Given the description of an element on the screen output the (x, y) to click on. 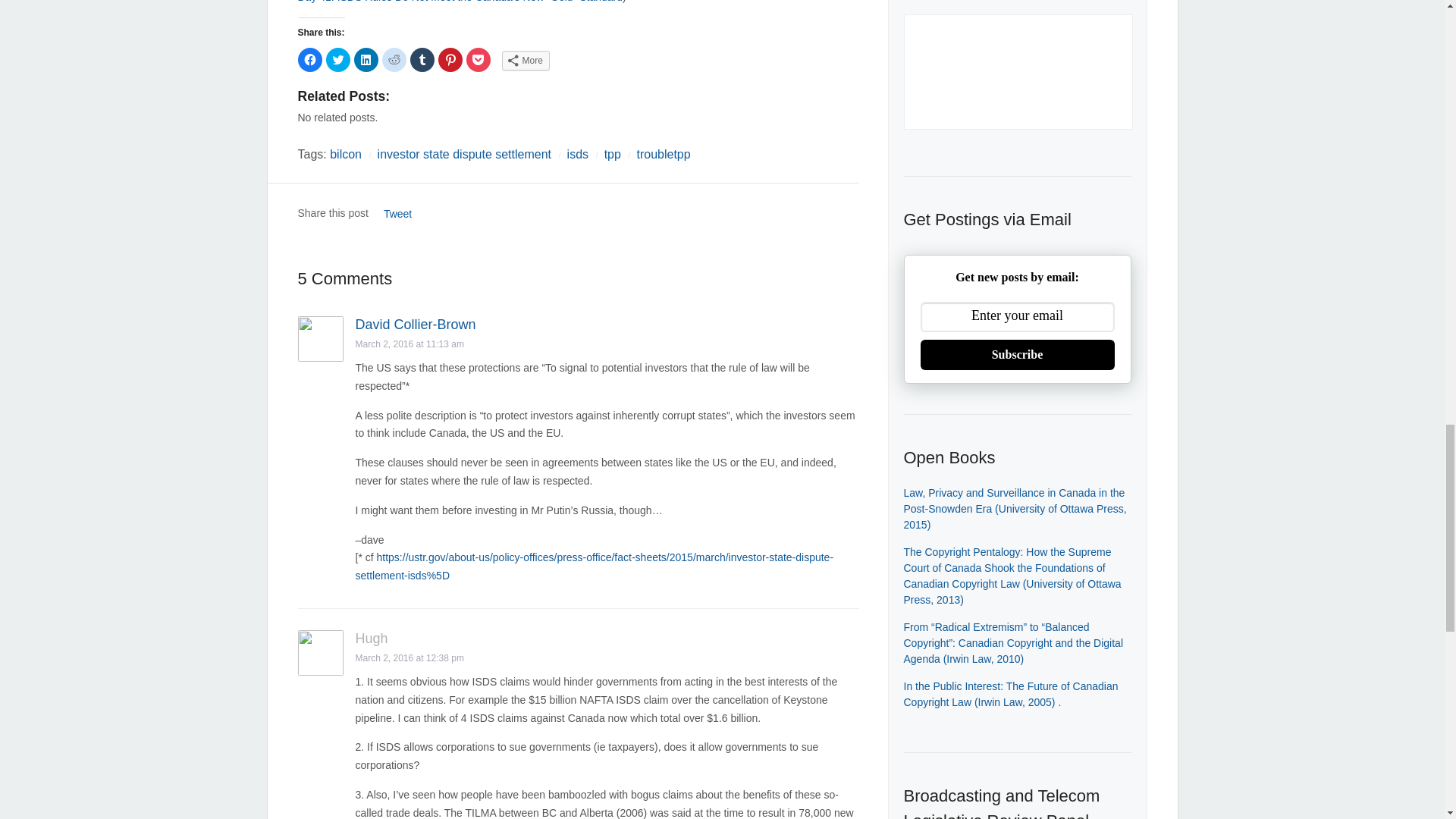
Click to share on LinkedIn (365, 59)
Click to share on Reddit (393, 59)
Click to share on Facebook (309, 59)
Click to share on Twitter (338, 59)
